Given the description of an element on the screen output the (x, y) to click on. 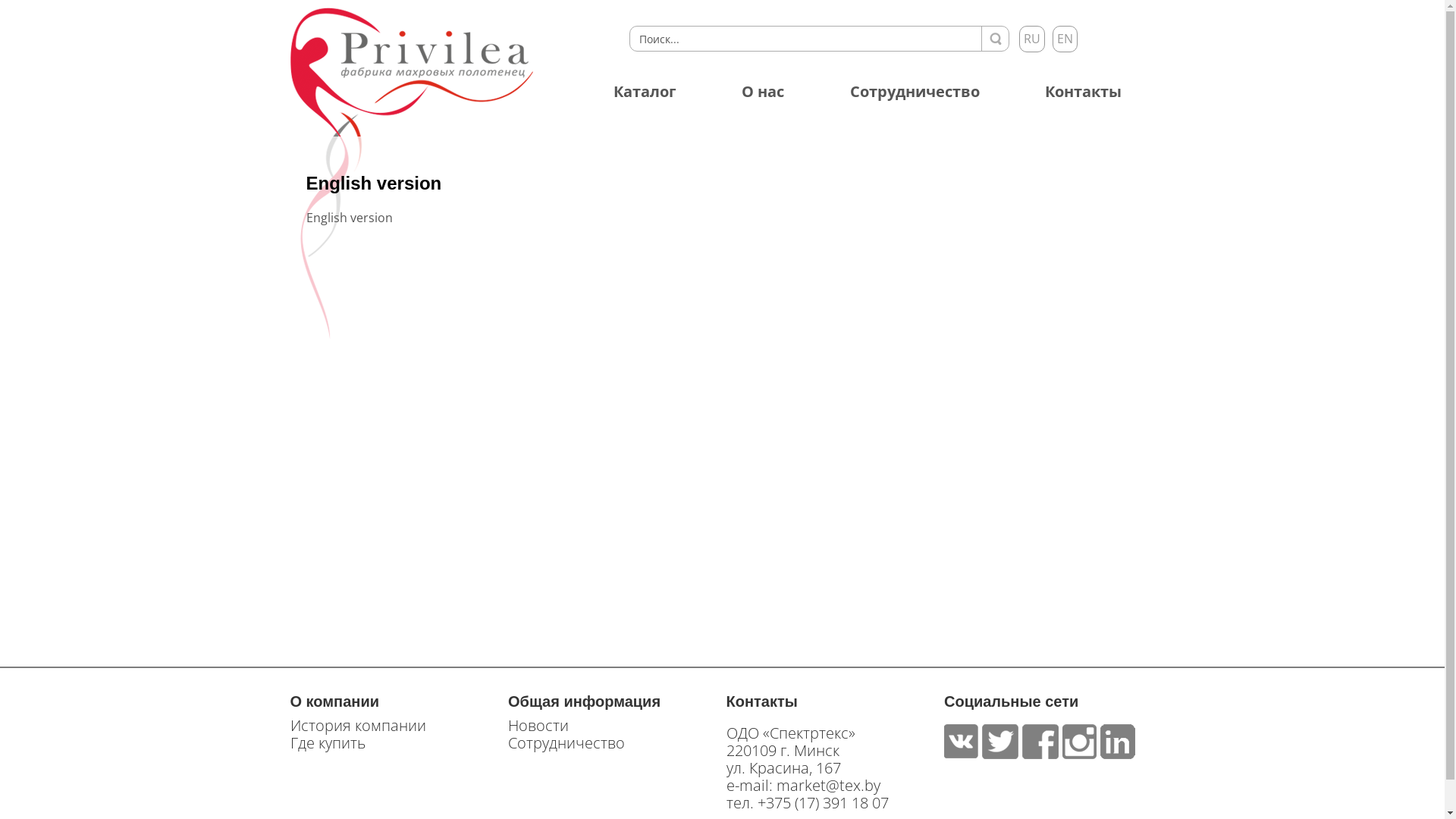
English version Element type: text (374, 182)
RU Element type: text (1031, 38)
EN Element type: text (1064, 38)
